Given the description of an element on the screen output the (x, y) to click on. 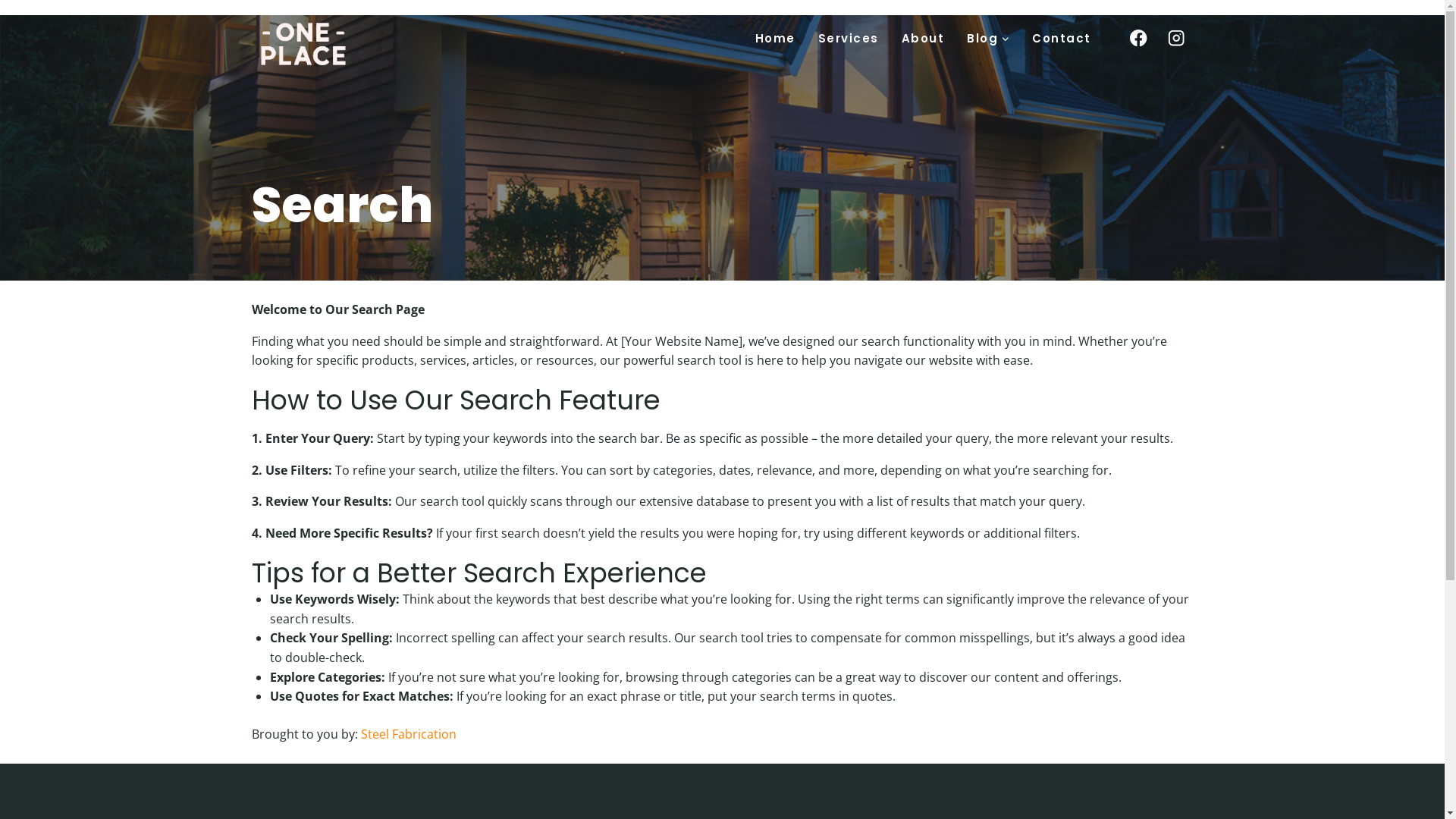
Steel Fabrication Element type: text (408, 733)
About Element type: text (923, 37)
Blog Element type: text (987, 37)
Contact Element type: text (1061, 37)
Services Element type: text (848, 37)
Home Element type: text (774, 37)
